Given the description of an element on the screen output the (x, y) to click on. 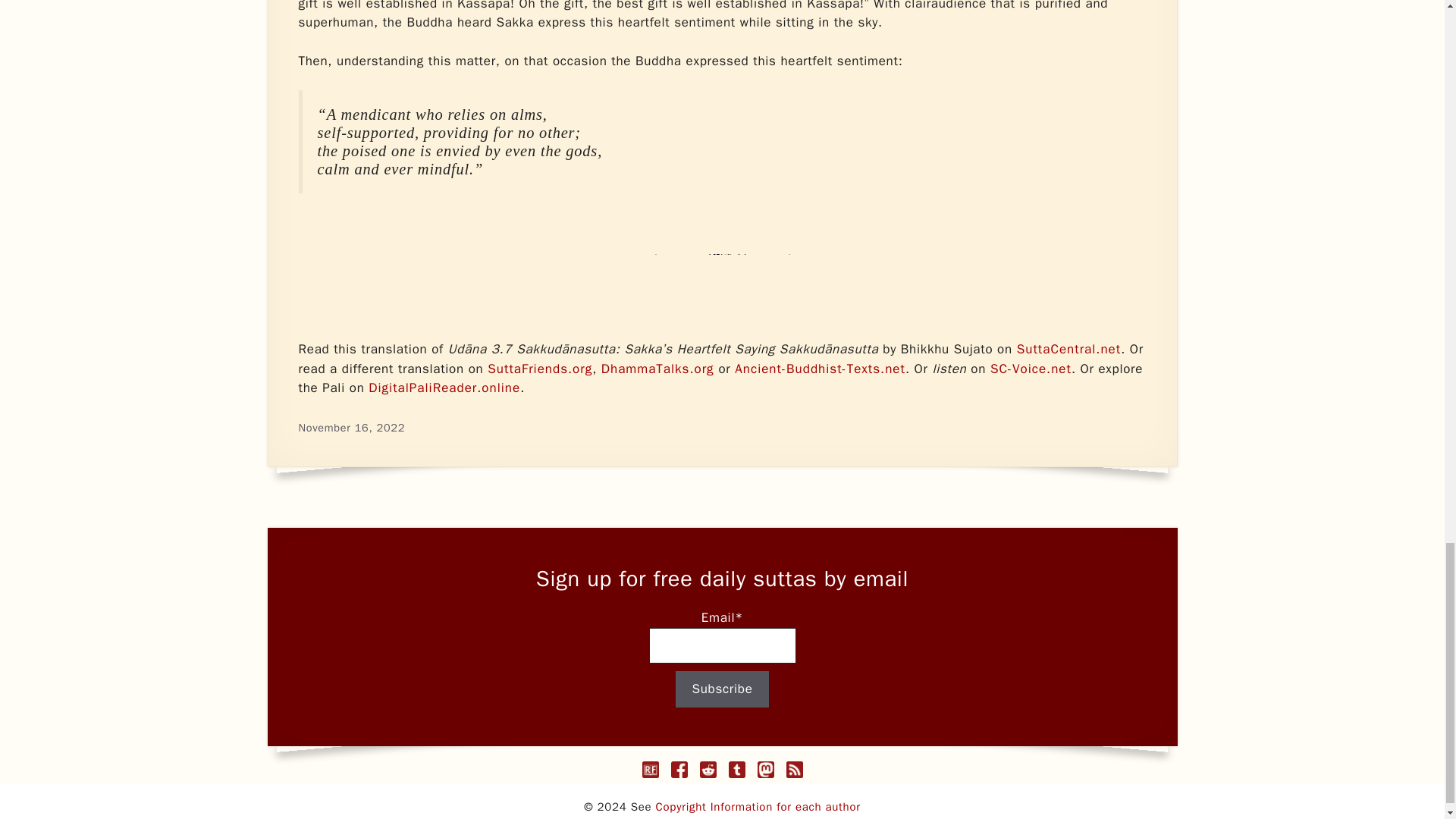
SC-Voice.net (1030, 368)
SuttaCentral.net (1068, 349)
DhammaTalks.org (657, 368)
Ancient-Buddhist-Texts.net (820, 368)
SuttaFriends.org (539, 368)
Subscribe (721, 688)
Subscribe (721, 688)
DigitalPaliReader.online (443, 387)
